Given the description of an element on the screen output the (x, y) to click on. 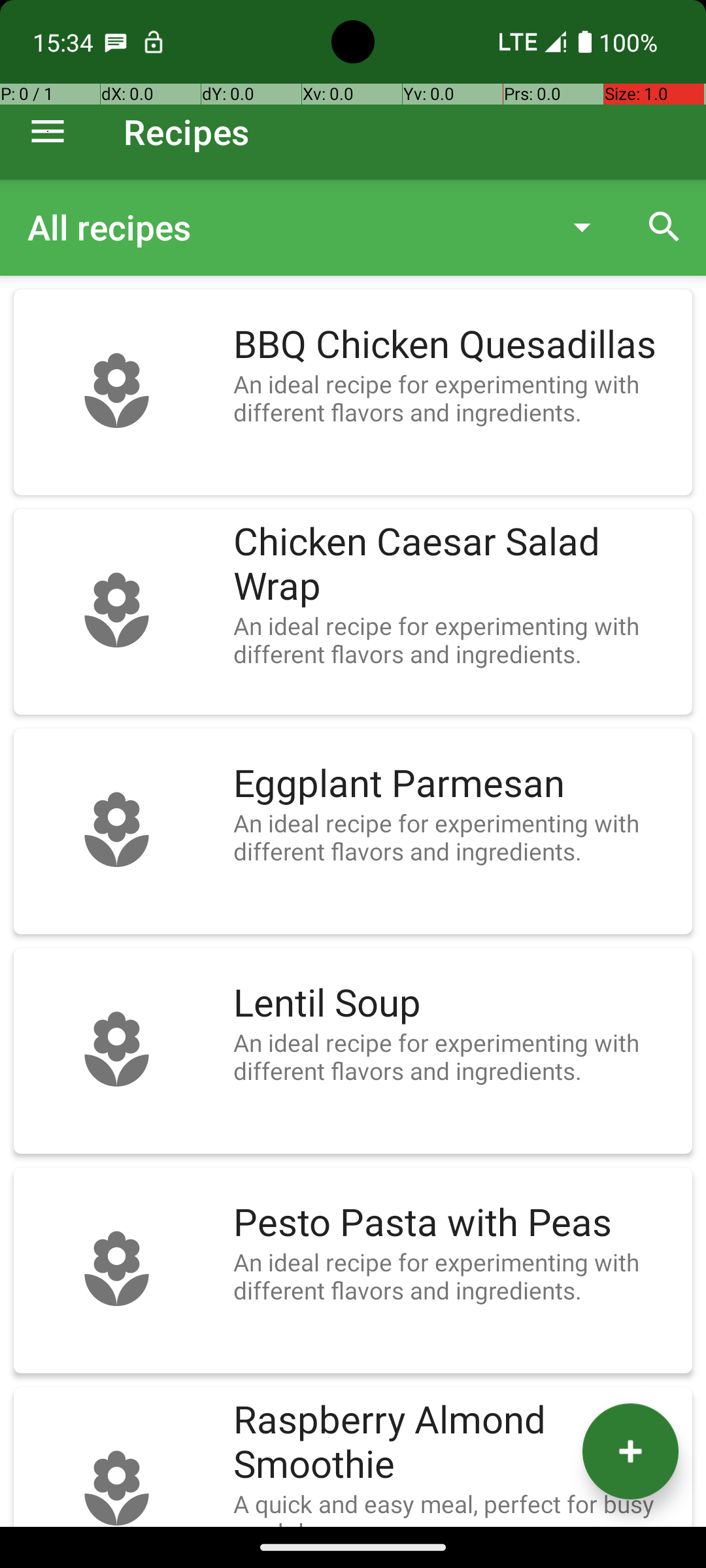
Pesto Pasta with Peas Element type: android.widget.TextView (455, 1222)
Raspberry Almond Smoothie Element type: android.widget.TextView (455, 1442)
